Given the description of an element on the screen output the (x, y) to click on. 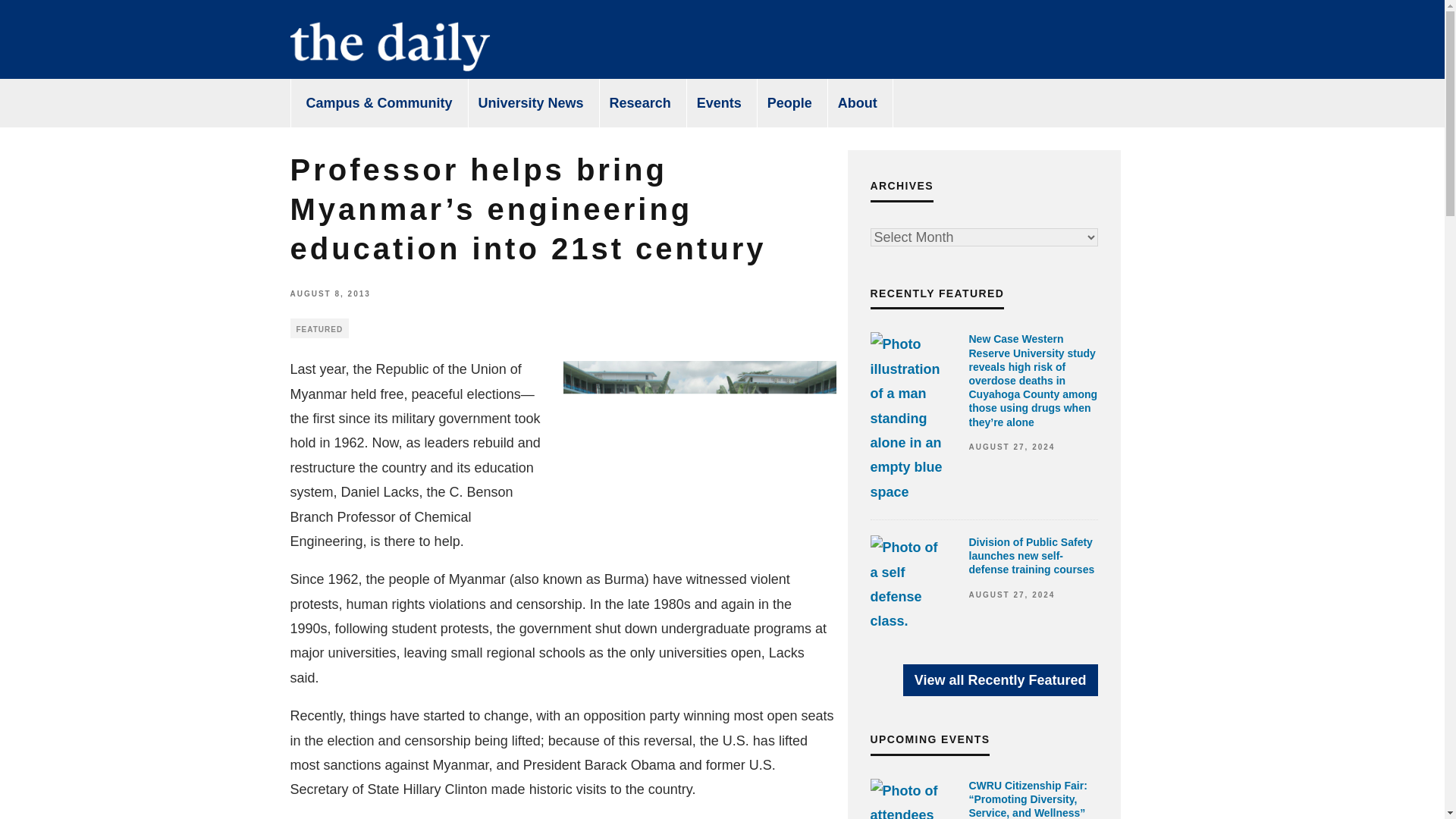
Events (719, 102)
lacks-myanmar-full (698, 433)
About (857, 102)
Research (640, 102)
People (790, 102)
University News (531, 102)
FEATURED (319, 328)
